Given the description of an element on the screen output the (x, y) to click on. 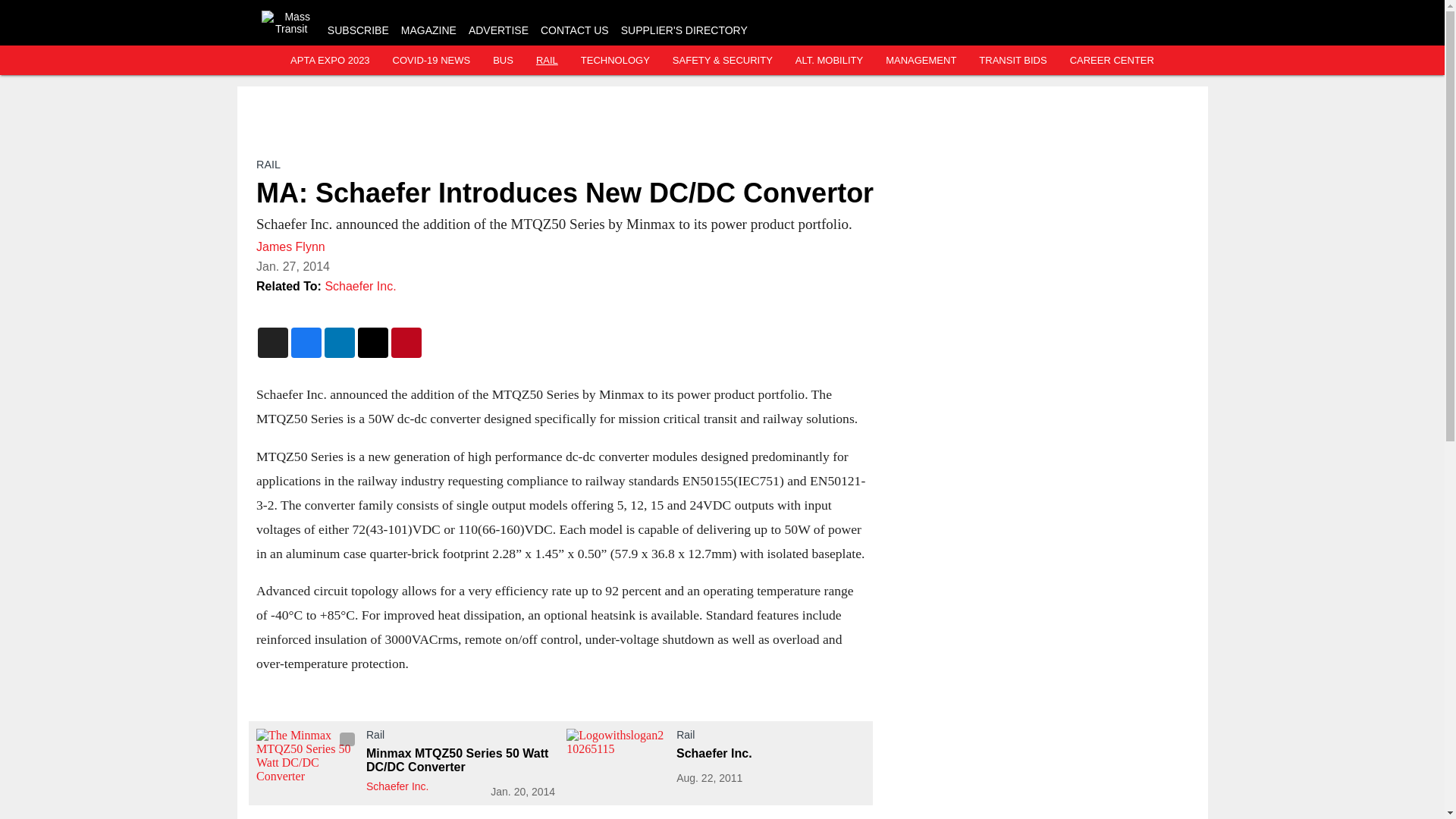
James Flynn (290, 246)
BUS (503, 60)
SUBSCRIBE (357, 30)
Schaefer Inc. (360, 286)
TRANSIT BIDS (1012, 60)
RAIL (268, 164)
TECHNOLOGY (614, 60)
Schaefer Inc. (396, 786)
SUPPLIER'S DIRECTORY (684, 30)
COVID-19 NEWS (431, 60)
